Given the description of an element on the screen output the (x, y) to click on. 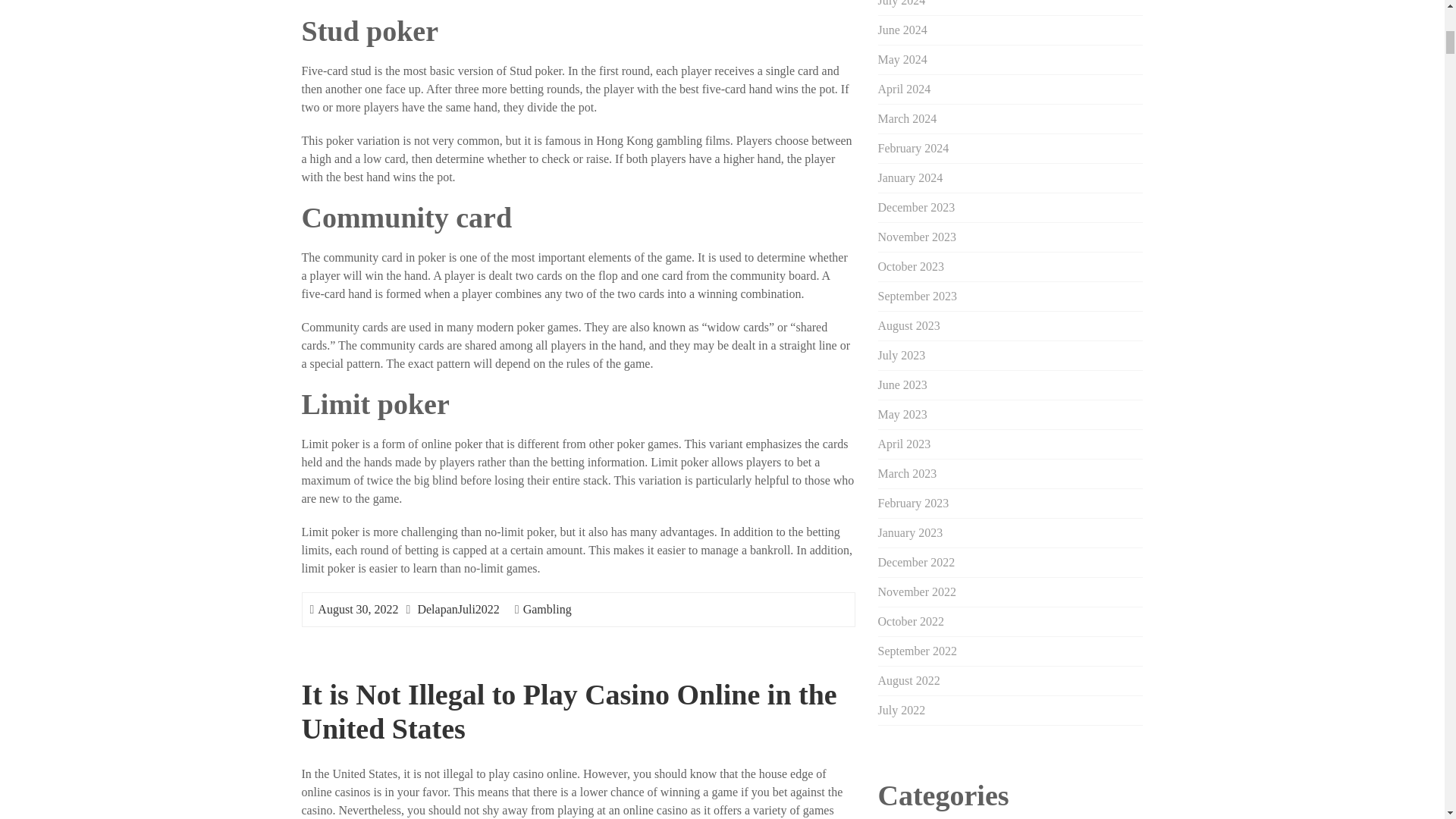
It is Not Illegal to Play Casino Online in the United States (569, 711)
DelapanJuli2022 (457, 608)
August 30, 2022 (357, 608)
Gambling (547, 608)
